Given the description of an element on the screen output the (x, y) to click on. 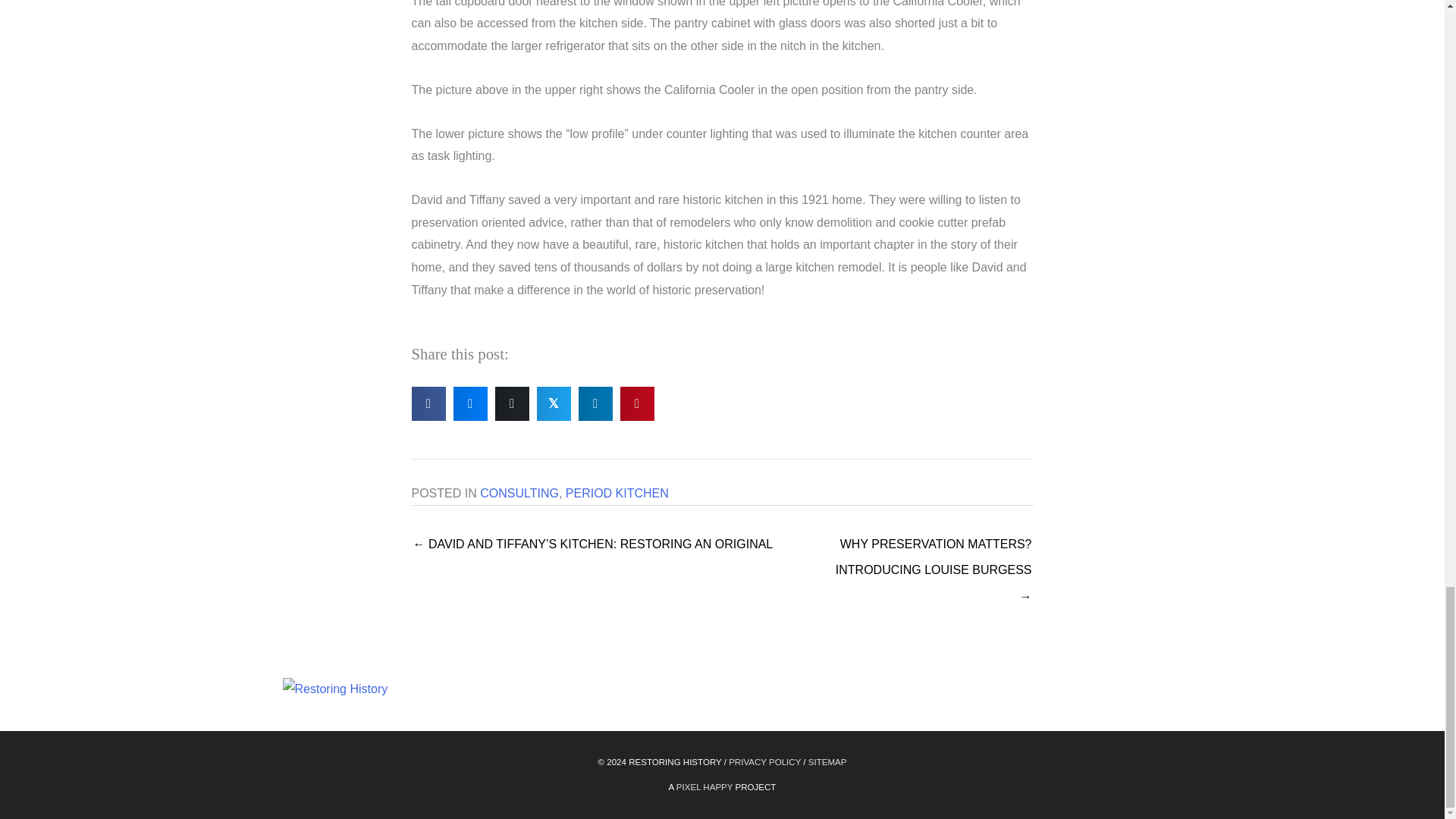
PRIVACY POLICY (764, 761)
PERIOD KITCHEN (617, 492)
PIXEL HAPPY (704, 786)
SITEMAP (827, 761)
CONSULTING (519, 492)
